Given the description of an element on the screen output the (x, y) to click on. 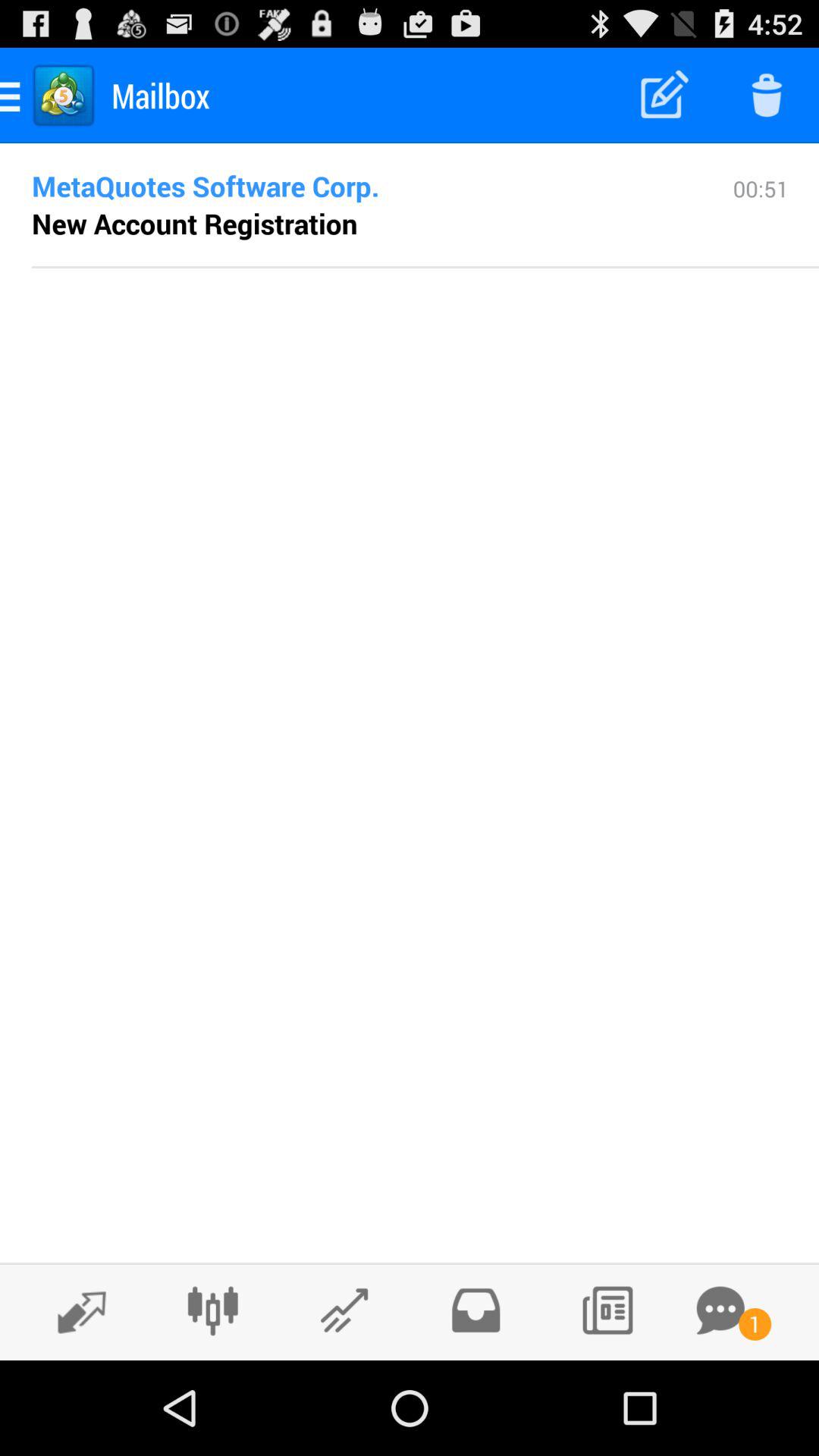
swipe until new account registration (194, 223)
